Given the description of an element on the screen output the (x, y) to click on. 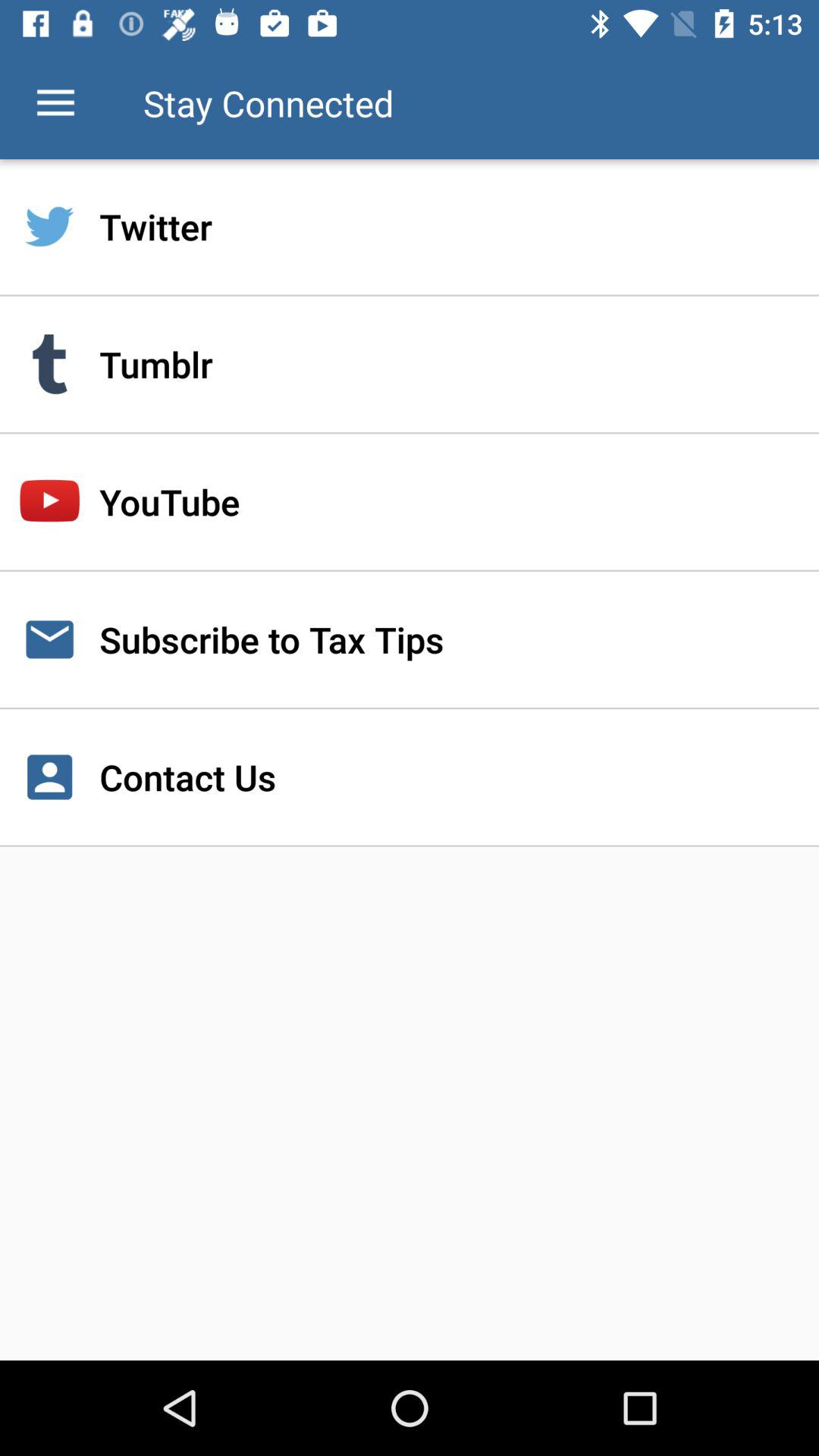
swipe until the youtube (409, 501)
